Given the description of an element on the screen output the (x, y) to click on. 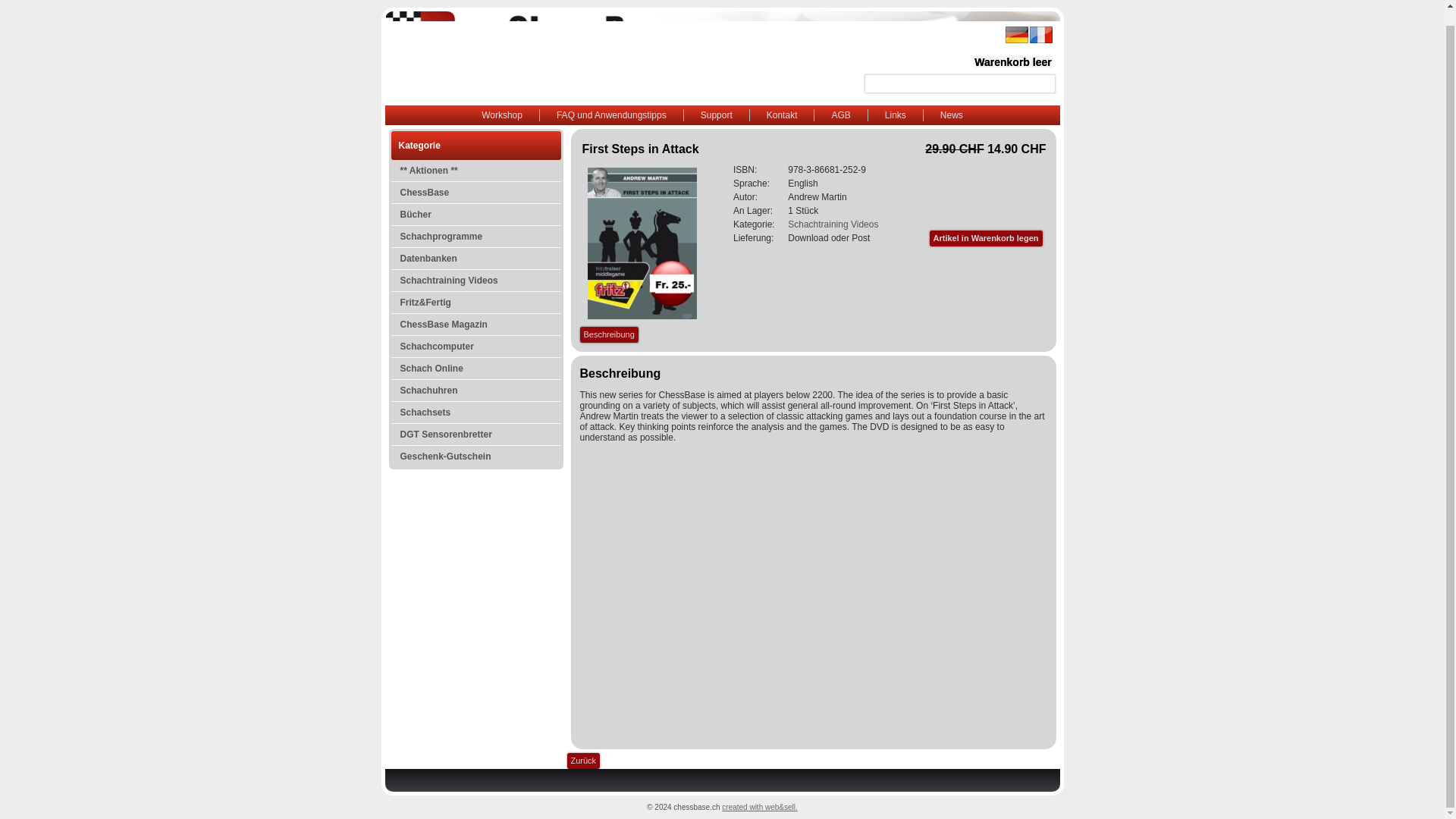
Kontakt (781, 115)
Schachprogramme (475, 236)
Schachcomputer (475, 346)
ChessBase Magazin (475, 323)
Deutsch (1016, 34)
Schachuhren (475, 390)
News (951, 115)
AGB (839, 115)
Schach Online (475, 368)
Schachsets (475, 412)
FAQ und Anwendungstipps (611, 115)
Links (895, 115)
Artikel in Warenkorb legen (986, 238)
Geschenk-Gutschein (475, 455)
Beschreibung (608, 334)
